Given the description of an element on the screen output the (x, y) to click on. 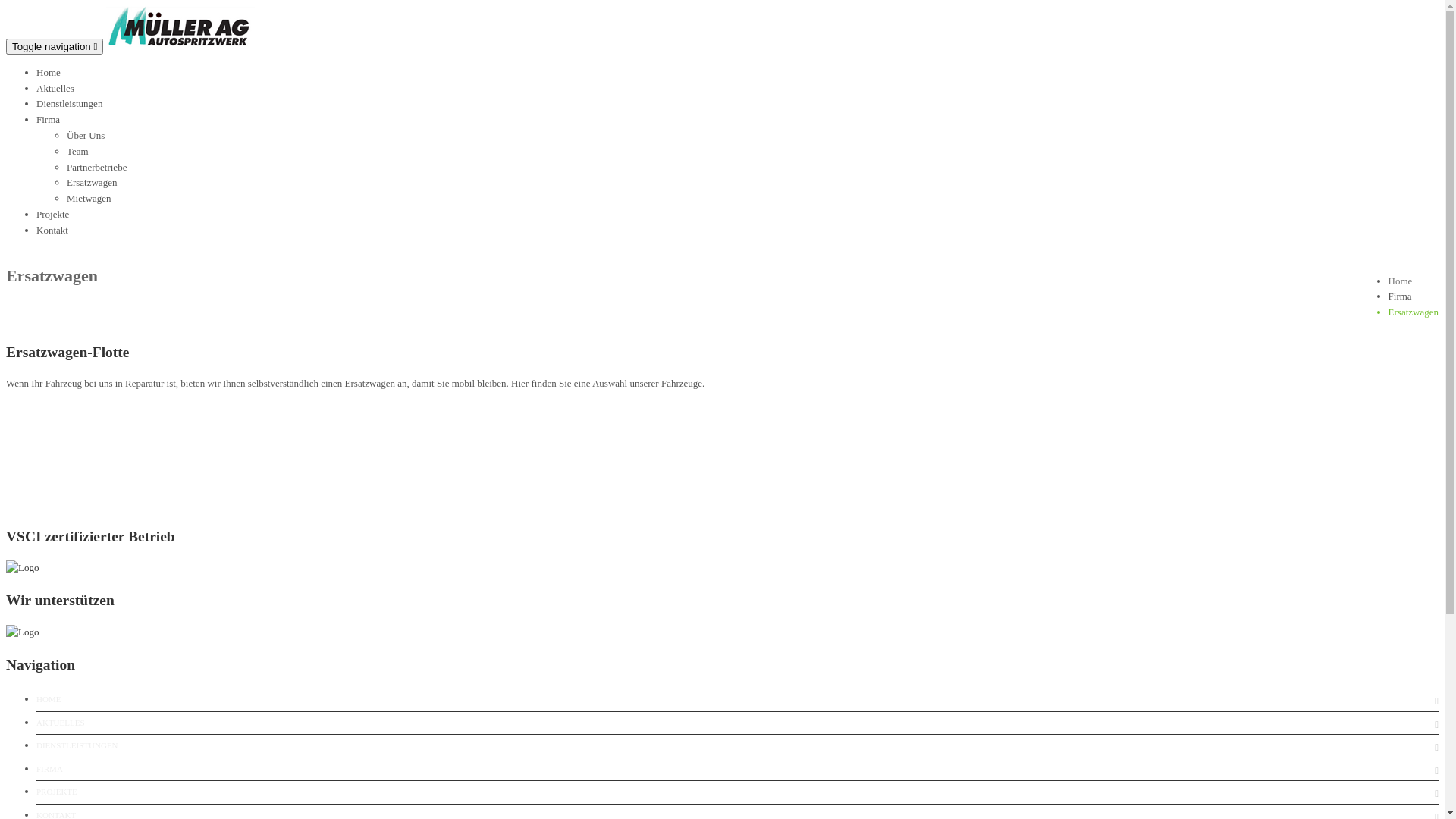
Mietwagen Element type: text (88, 197)
Toggle navigation Element type: text (54, 46)
Kontakt Element type: text (52, 229)
PROJEKTE Element type: text (56, 792)
FIRMA Element type: text (49, 769)
Dienstleistungen Element type: text (69, 103)
Ersatzwagen Element type: text (91, 182)
Home Element type: text (48, 72)
Aktuelles Element type: text (55, 88)
Team Element type: text (77, 150)
HOME Element type: text (48, 699)
AKTUELLES Element type: text (60, 723)
Projekte Element type: text (52, 213)
Partnerbetriebe Element type: text (96, 166)
Firma Element type: text (47, 119)
DIENSTLEISTUNGEN Element type: text (77, 745)
Home Element type: text (1400, 280)
